Given the description of an element on the screen output the (x, y) to click on. 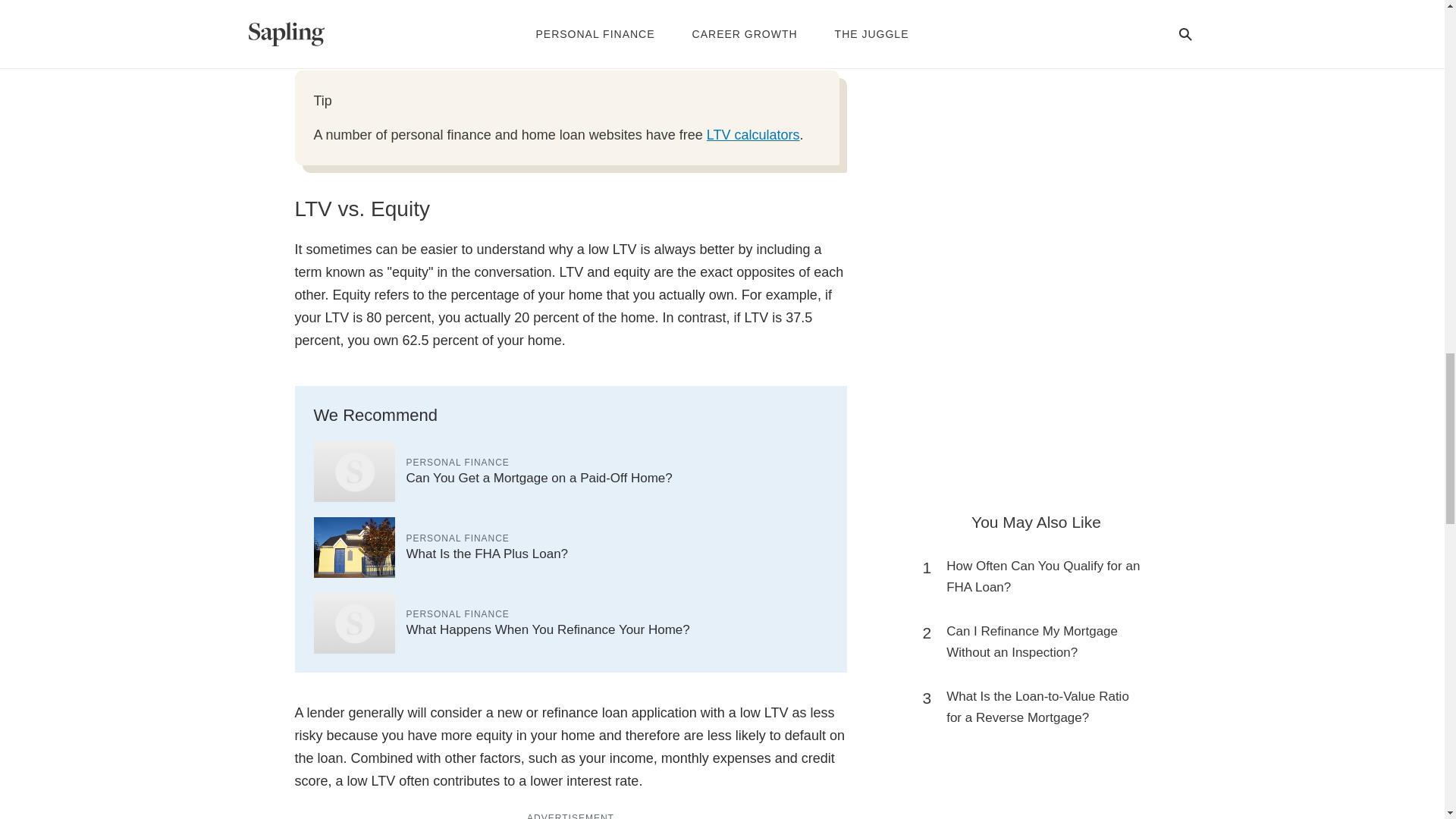
LTV calculators (752, 134)
Can You Get a Mortgage on a Paid-Off Home? (539, 477)
What Is the Loan-to-Value Ratio for a Reverse Mortgage? (1043, 707)
How Often Can You Qualify for an FHA Loan? (1043, 577)
Can I Refinance My Mortgage Without an Inspection? (1043, 641)
What Is the FHA Plus Loan? (487, 554)
